Given the description of an element on the screen output the (x, y) to click on. 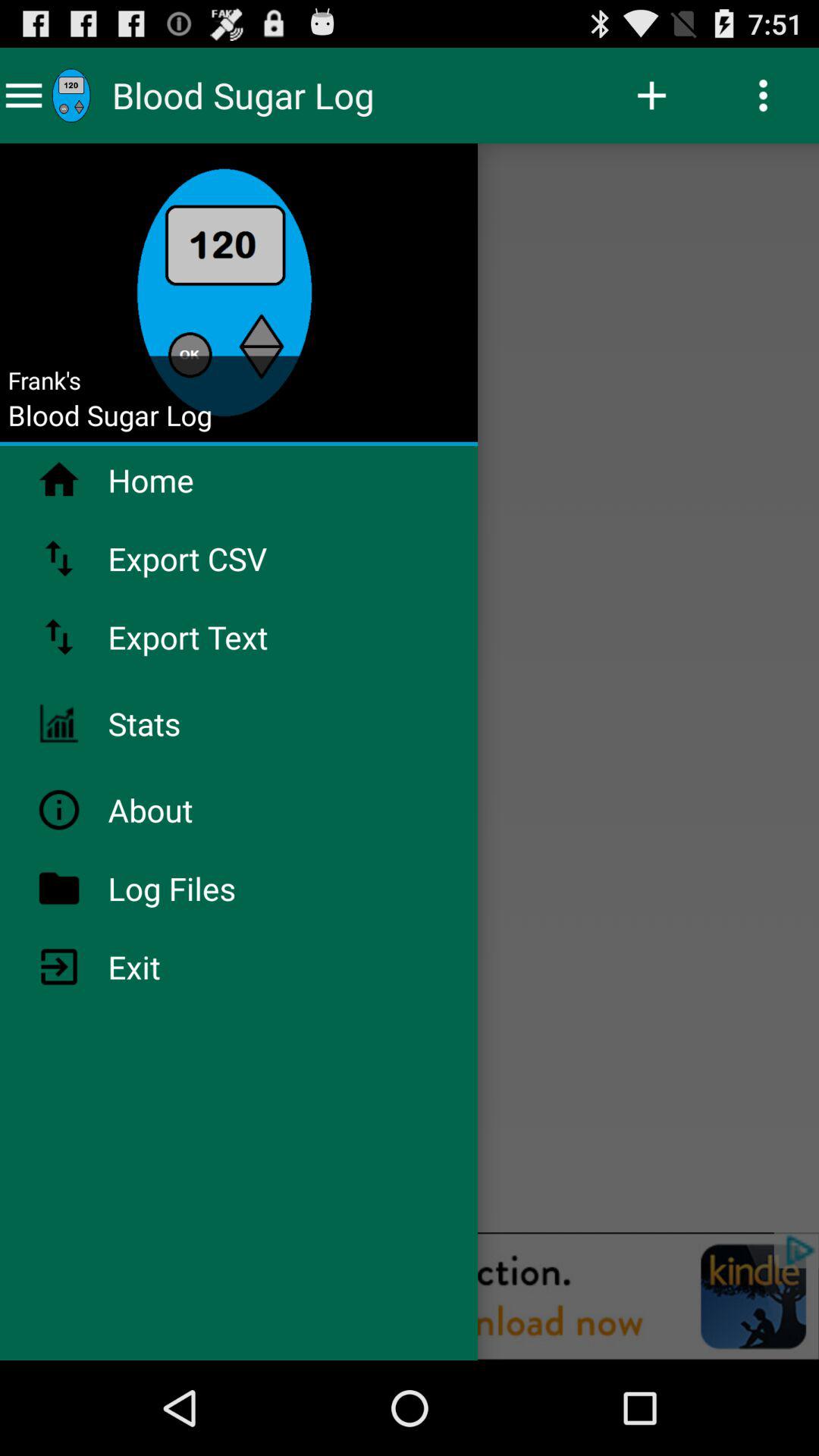
select the item above the export text (227, 558)
